Given the description of an element on the screen output the (x, y) to click on. 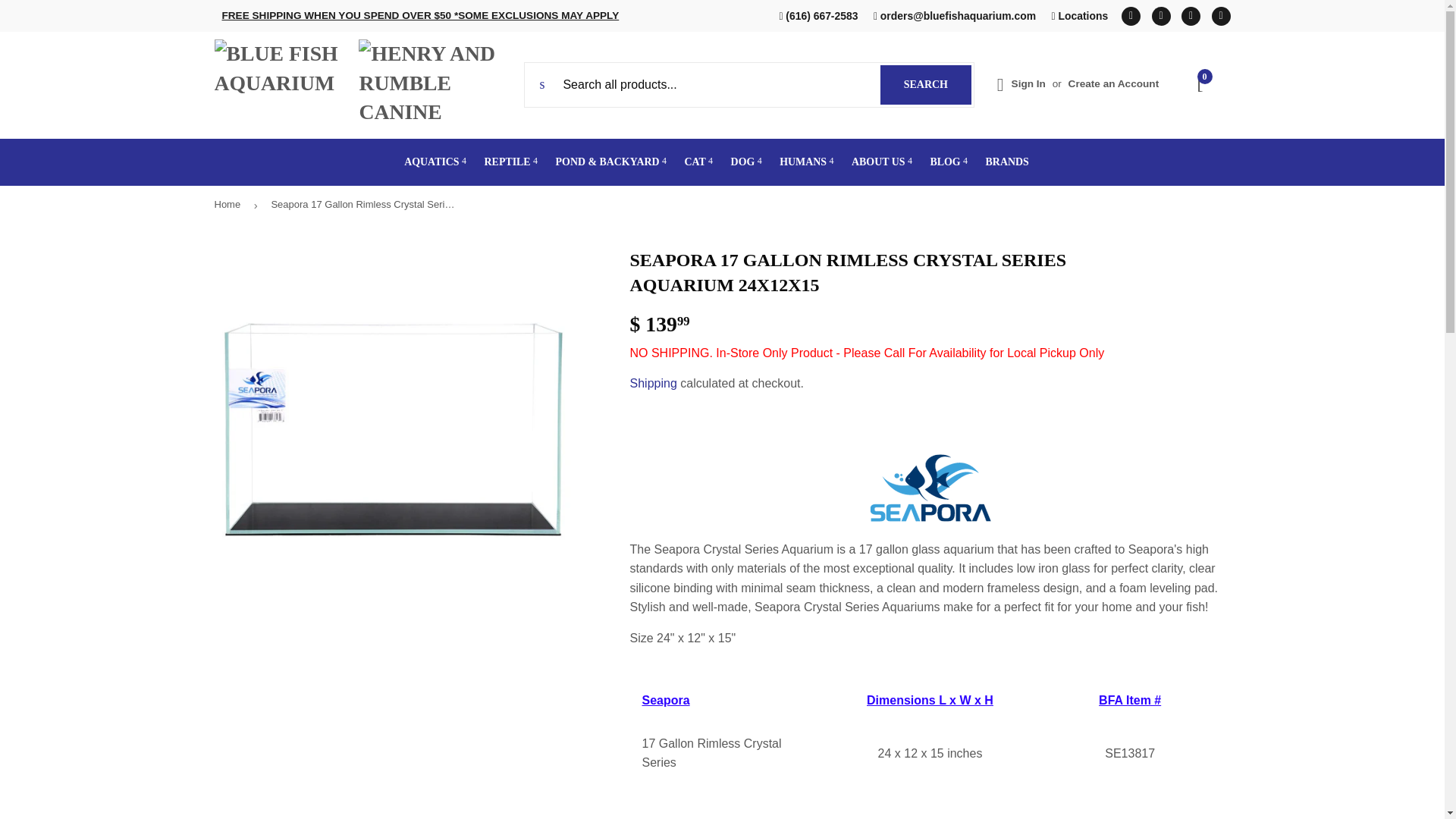
0 (925, 84)
Instagram (1201, 85)
Sign In (1189, 15)
Blue Fish Aquarium on Instagram (1028, 83)
YouTube (1189, 15)
Blue Fish Aquarium on YouTube (1220, 15)
Create an Account (1220, 15)
Pinterest (1113, 83)
Blue Fish Aquarium on Pinterest (1160, 15)
 Locations (1160, 15)
Blue Fish Aquarium on Facebook (1079, 15)
Facebook (1130, 15)
